Given the description of an element on the screen output the (x, y) to click on. 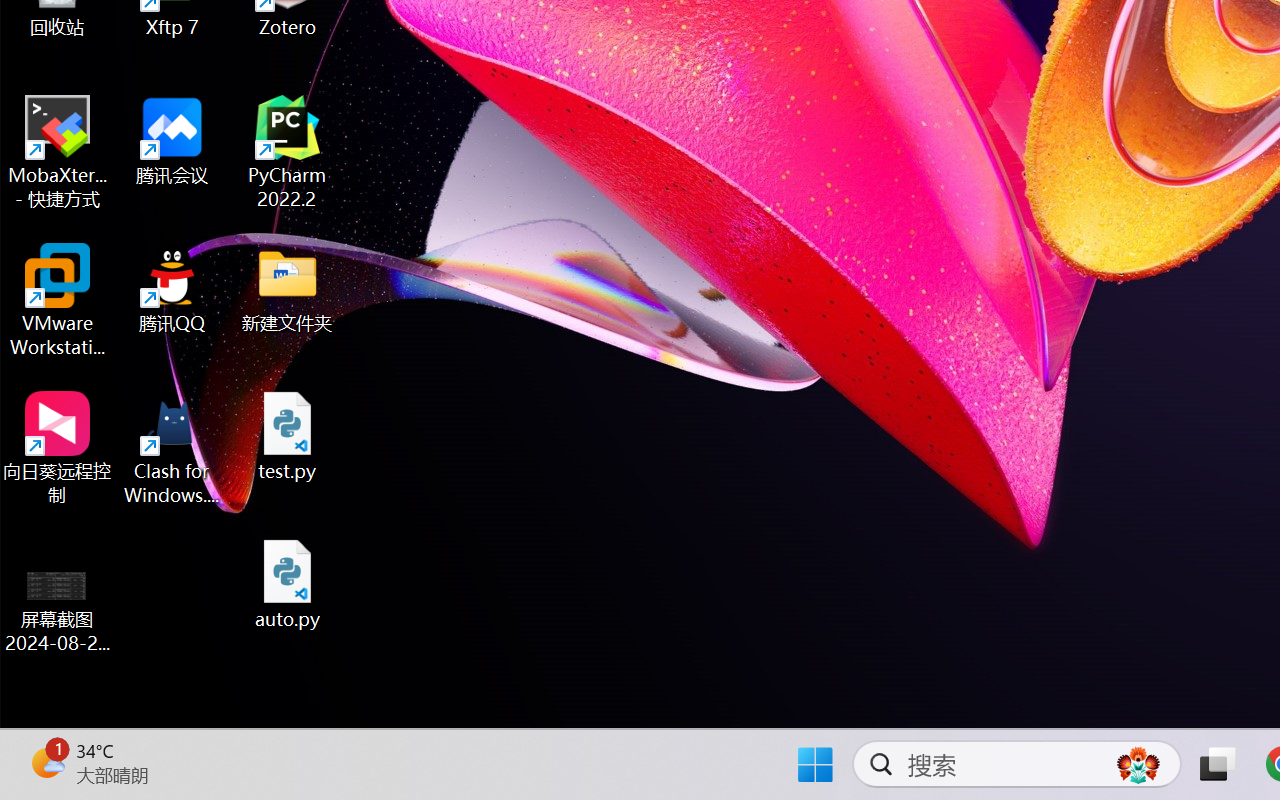
auto.py (287, 584)
test.py (287, 436)
VMware Workstation Pro (57, 300)
